Given the description of an element on the screen output the (x, y) to click on. 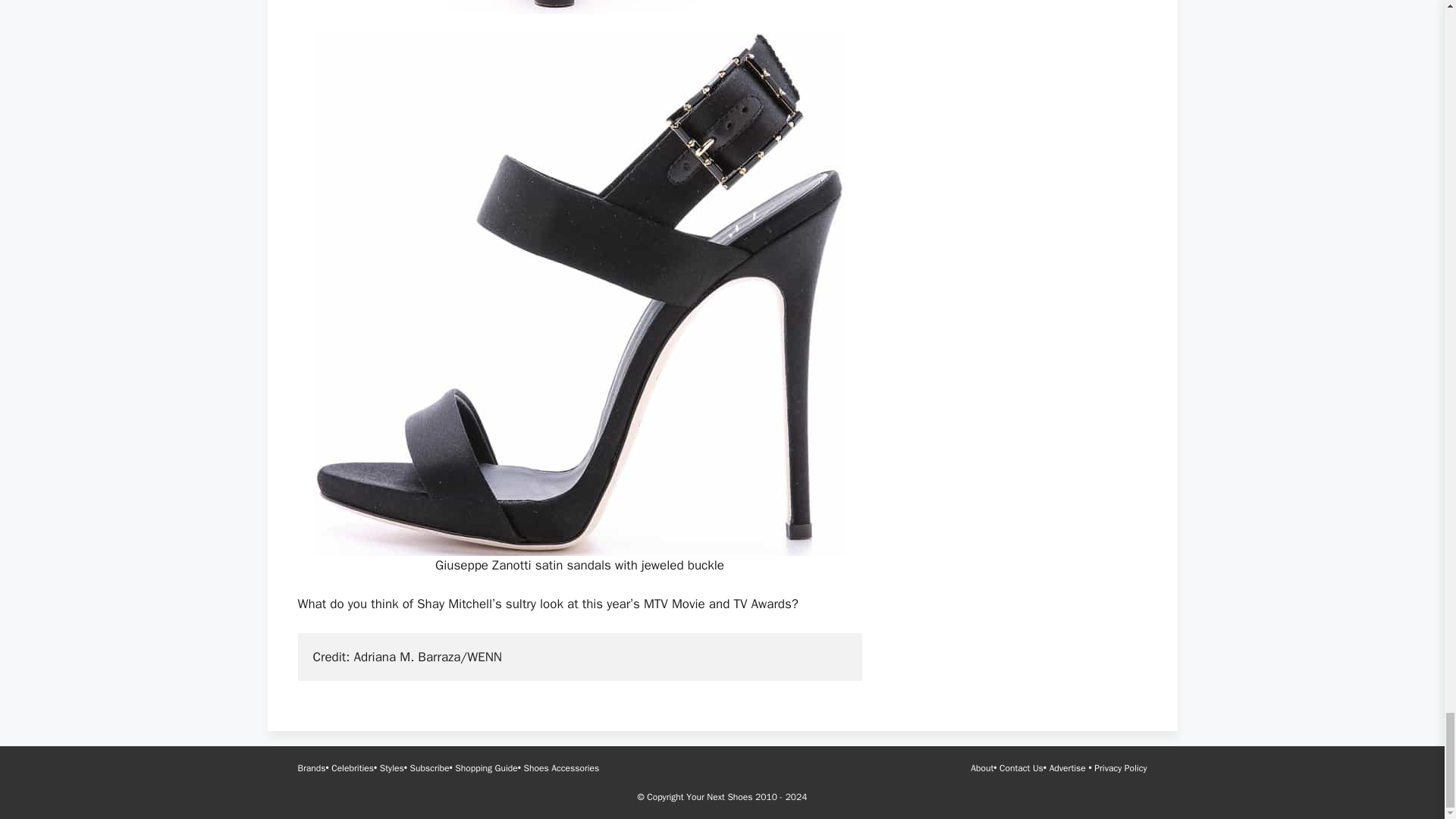
Brands (310, 767)
